Given the description of an element on the screen output the (x, y) to click on. 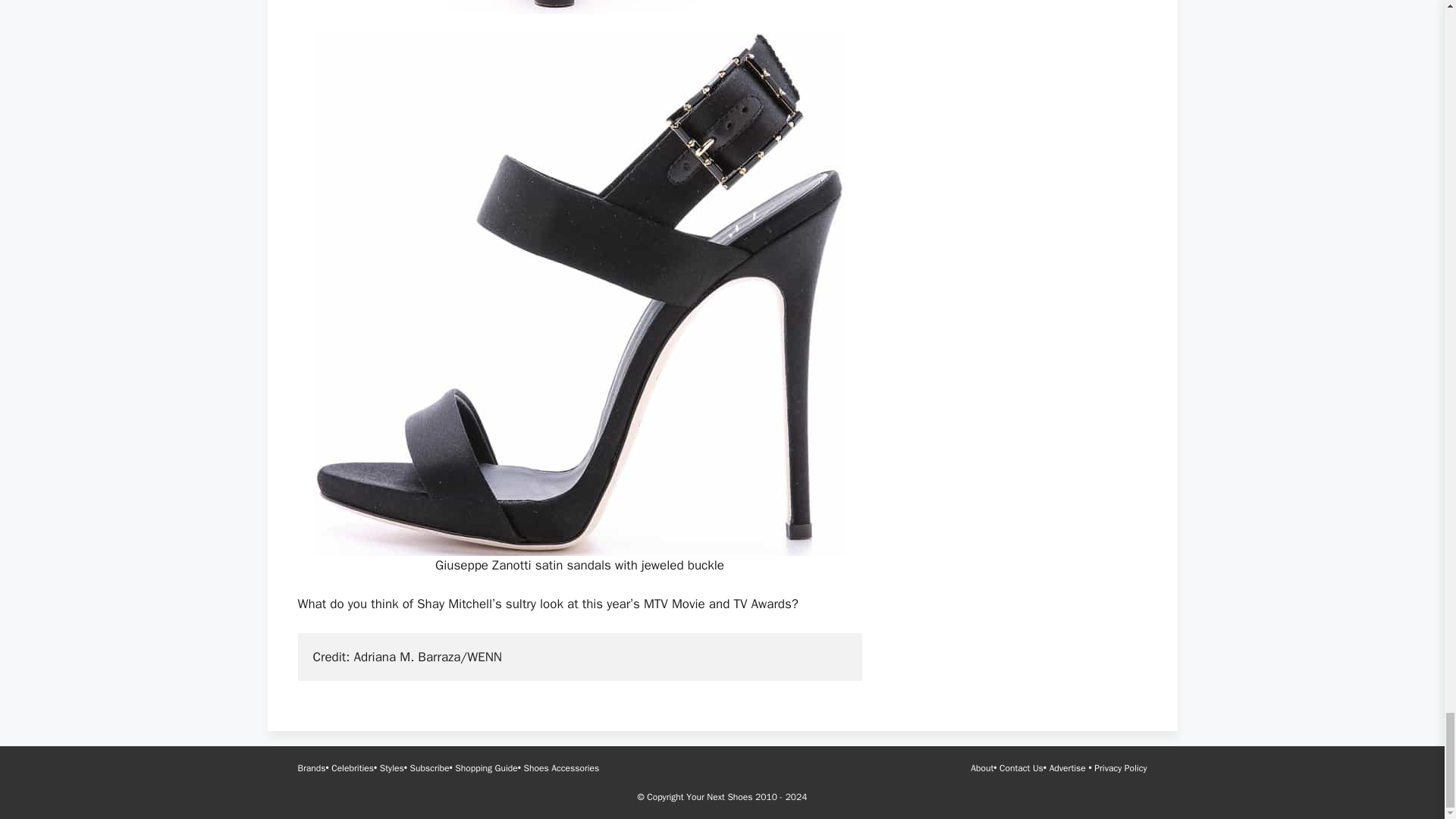
Brands (310, 767)
